Given the description of an element on the screen output the (x, y) to click on. 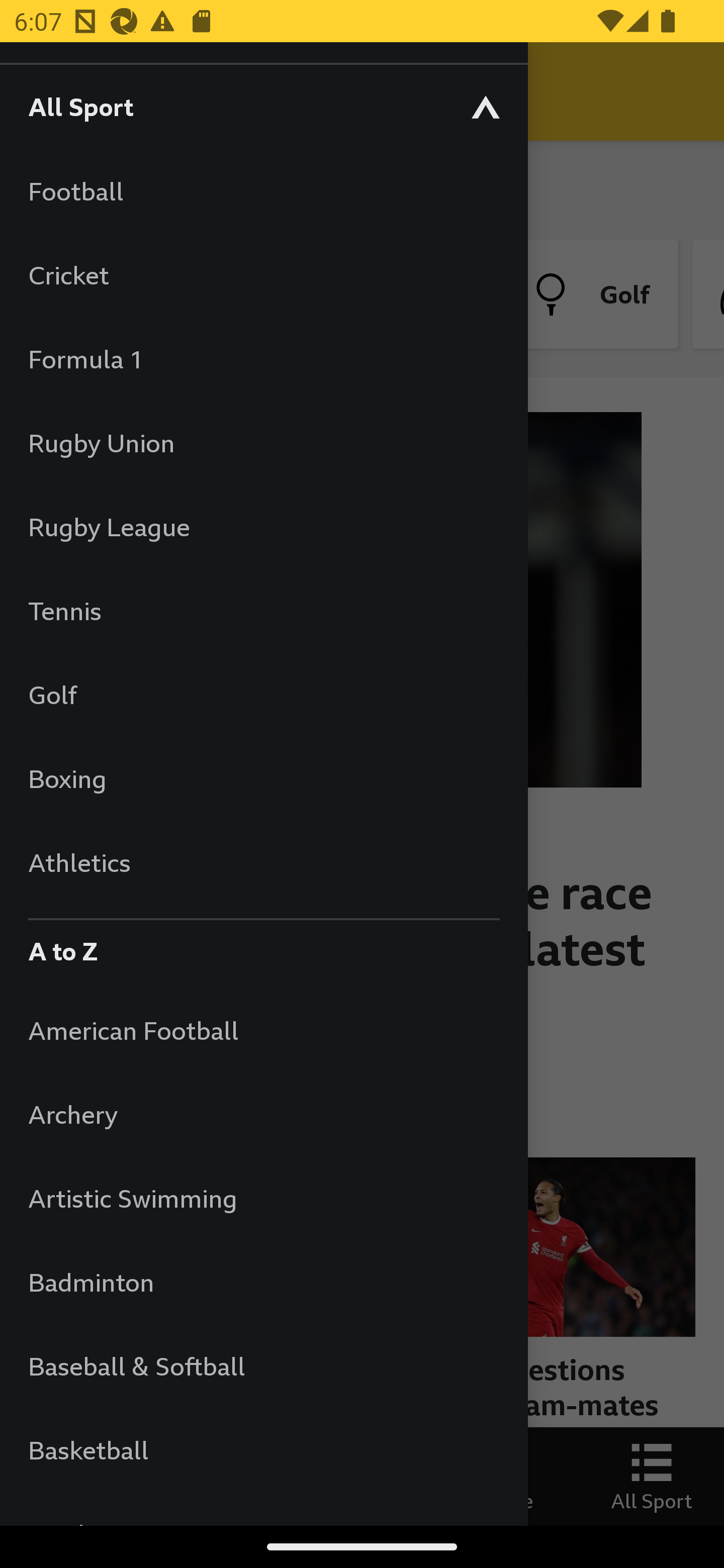
All Sport (263, 105)
Football (263, 190)
Cricket (263, 274)
Formula 1 (263, 358)
Rugby Union (263, 441)
Rugby League (263, 526)
Tennis (263, 609)
Golf (263, 694)
Boxing (263, 778)
Athletics (263, 862)
A to Z (263, 945)
American Football (263, 1029)
Archery (263, 1114)
Artistic Swimming (263, 1197)
Badminton (263, 1282)
Baseball & Softball (263, 1365)
Basketball (263, 1450)
